Given the description of an element on the screen output the (x, y) to click on. 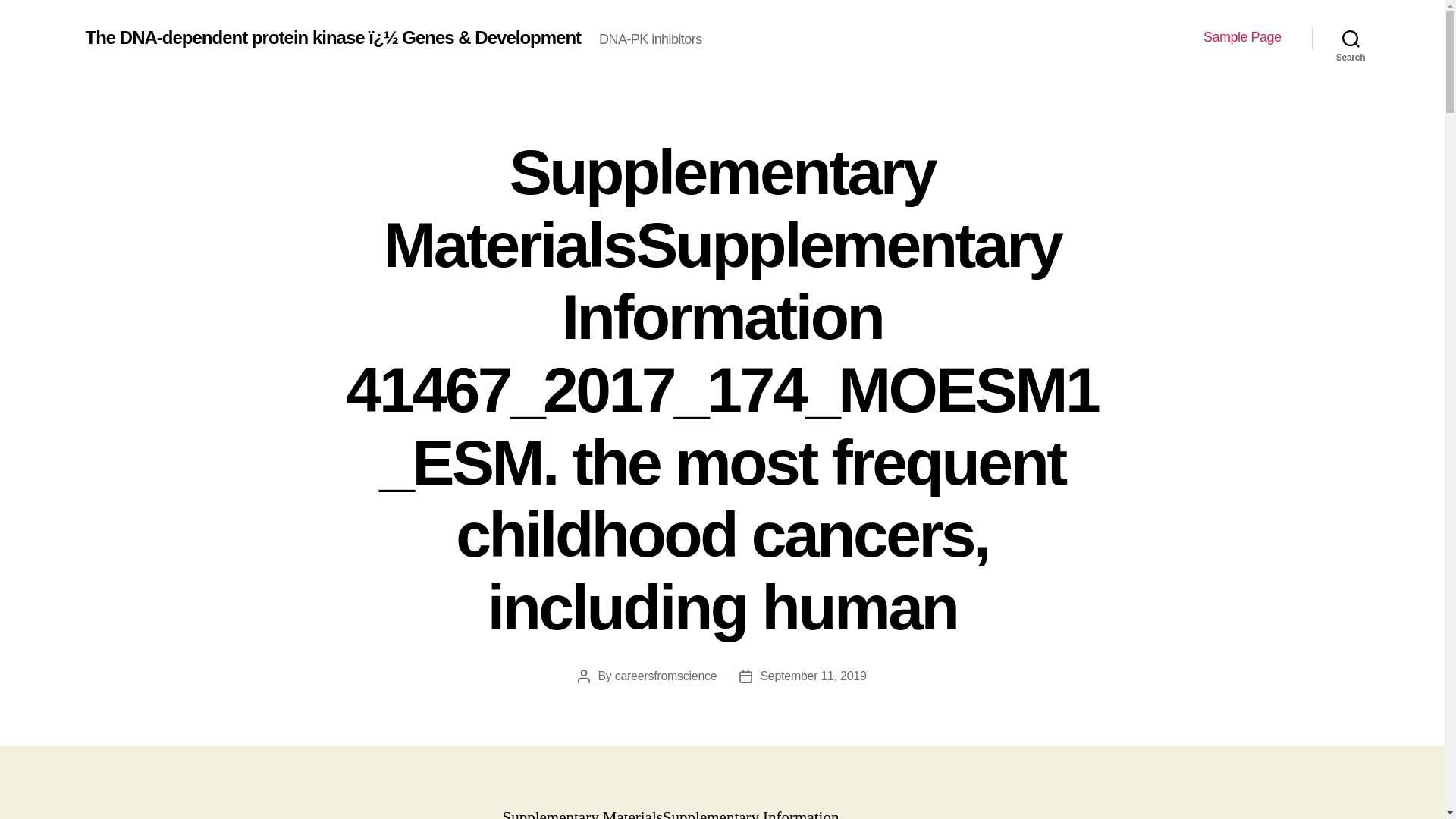
Sample Page (1242, 37)
Search (1350, 37)
careersfromscience (665, 675)
September 11, 2019 (813, 675)
